Given the description of an element on the screen output the (x, y) to click on. 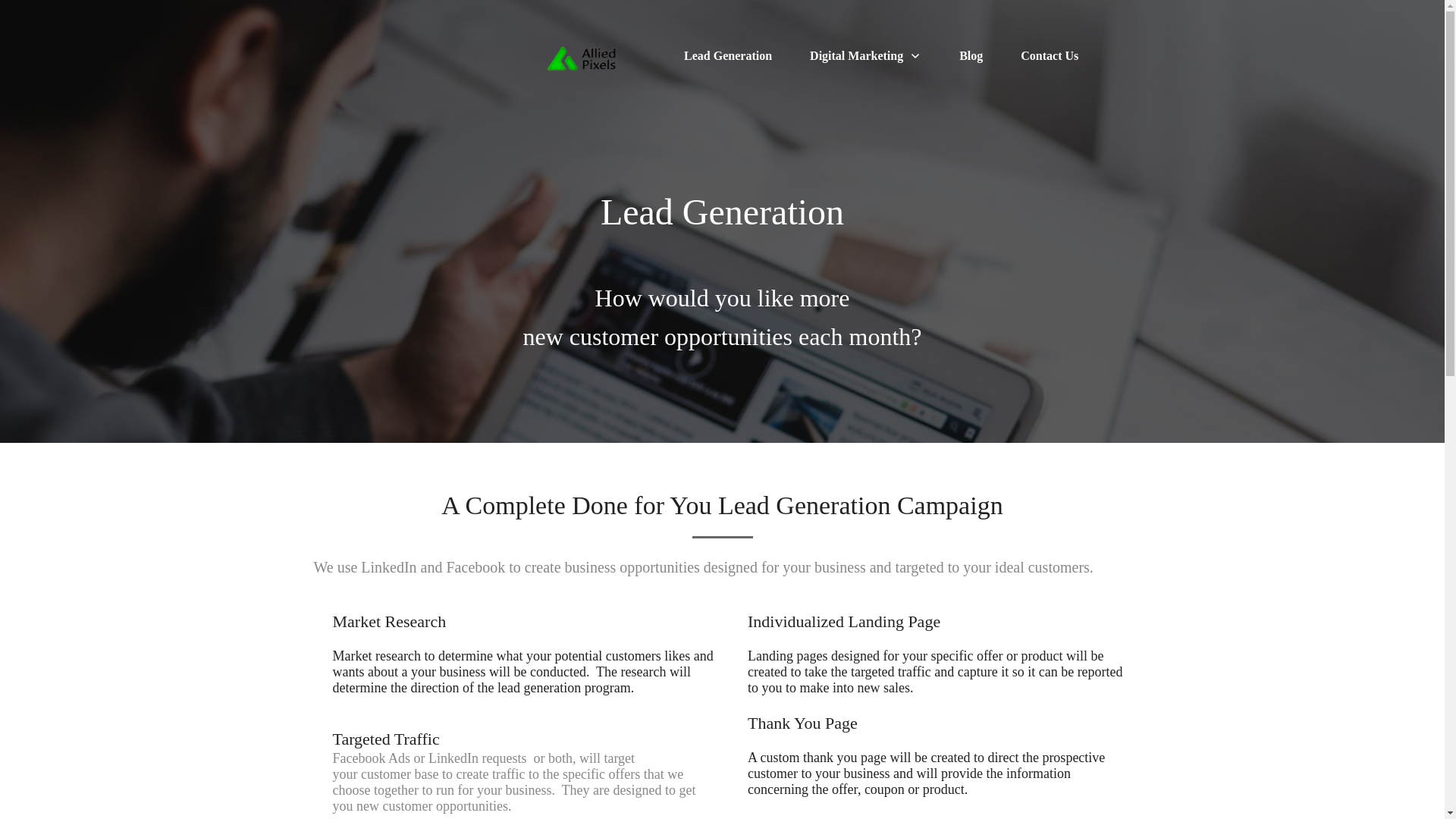
Digital Marketing (865, 55)
Contact Us (1049, 55)
Lead Generation (727, 55)
Blog (970, 55)
